Given the description of an element on the screen output the (x, y) to click on. 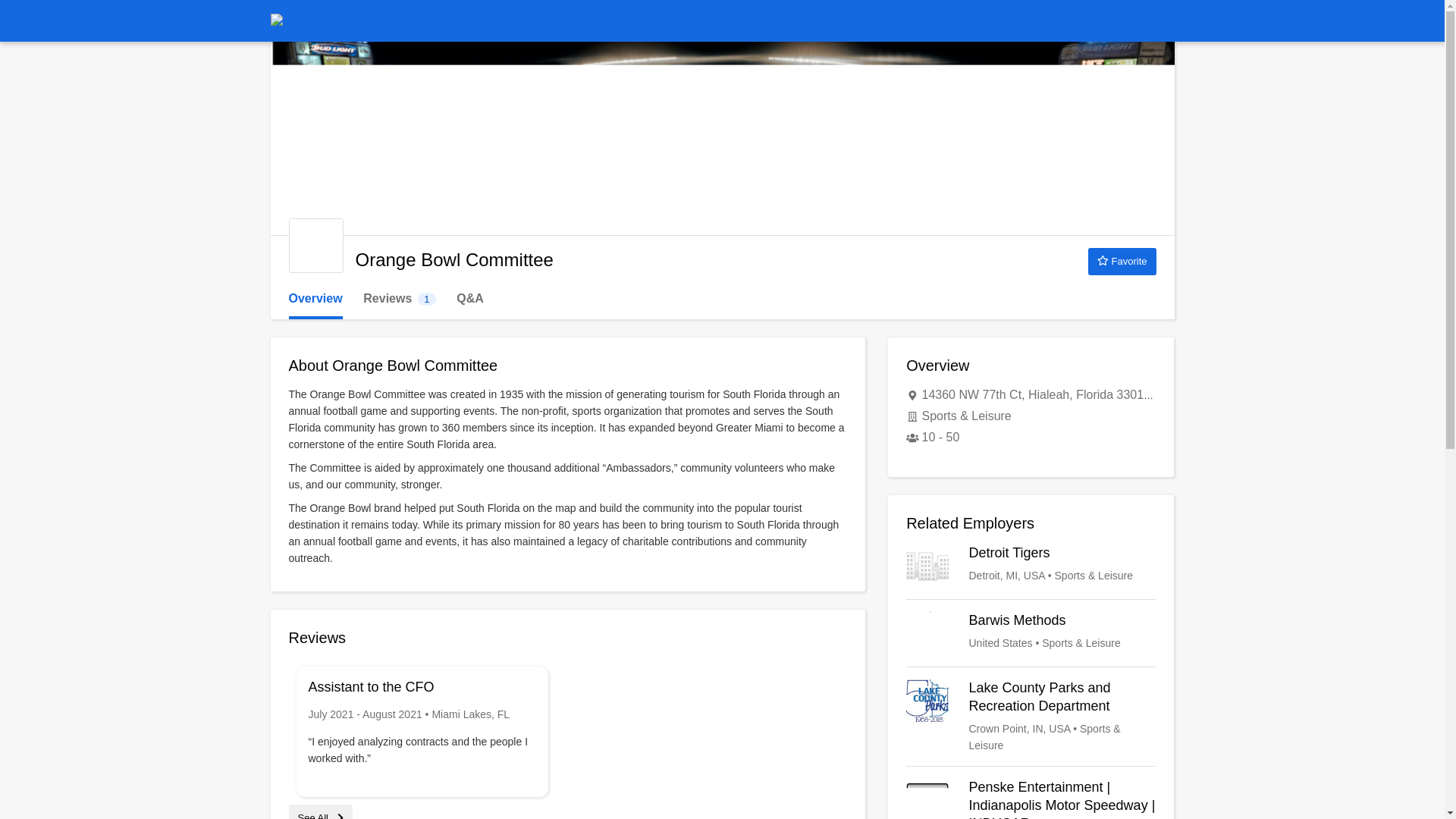
Barwis Methods (1030, 632)
Overview (315, 298)
Favorite (398, 298)
Lake County Parks and Recreation Department (1121, 261)
See All (1030, 716)
Detroit Tigers (320, 815)
Orange Bowl Committee (1030, 565)
